Given the description of an element on the screen output the (x, y) to click on. 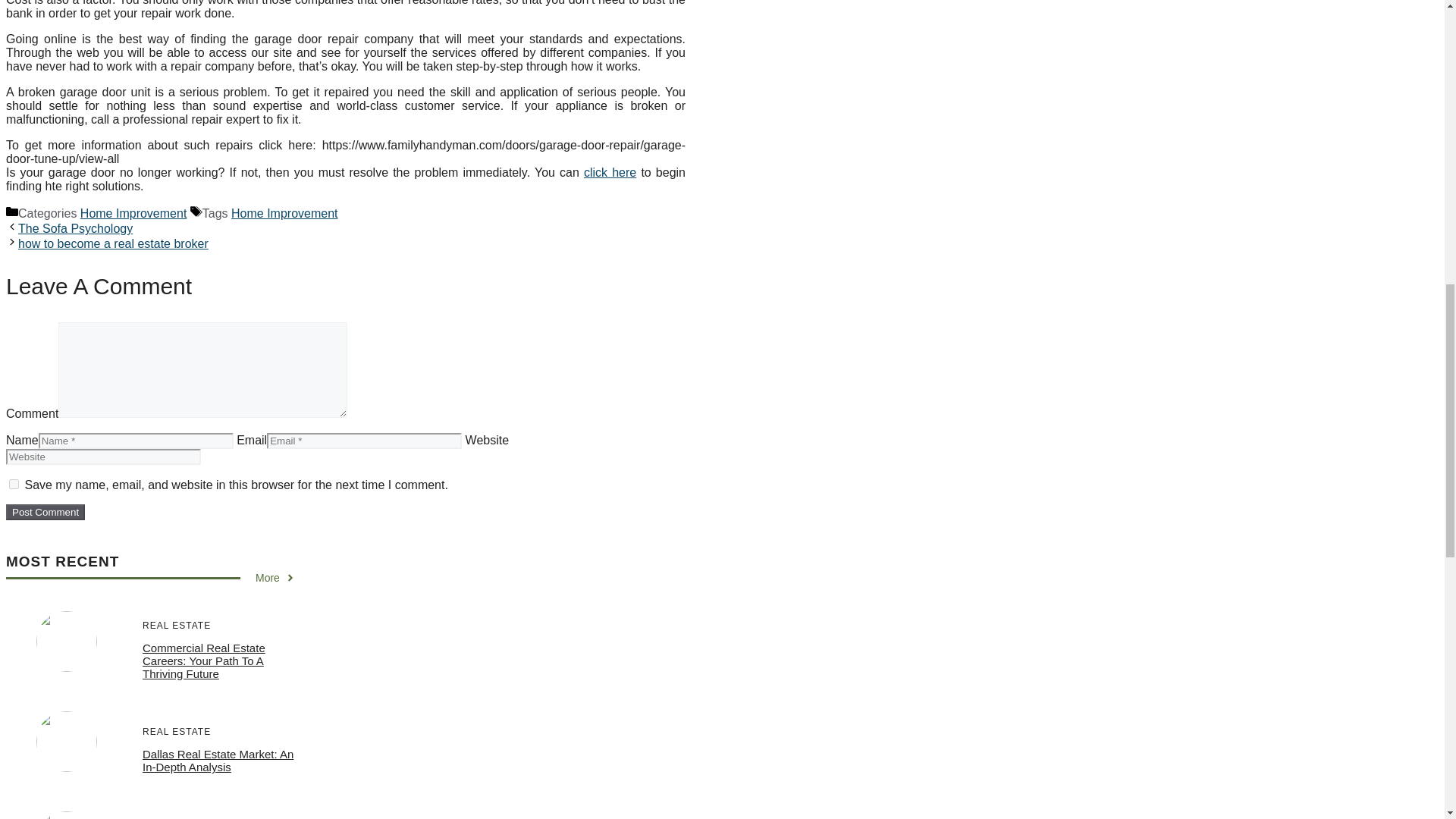
Home Improvement (284, 213)
The Sofa Psychology (74, 228)
click here (609, 172)
how to become a real estate broker (112, 243)
More (275, 577)
Home Improvement (133, 213)
yes (13, 483)
Dallas Real Estate Market: An In-Depth Analysis (218, 760)
Post Comment (44, 512)
